Given the description of an element on the screen output the (x, y) to click on. 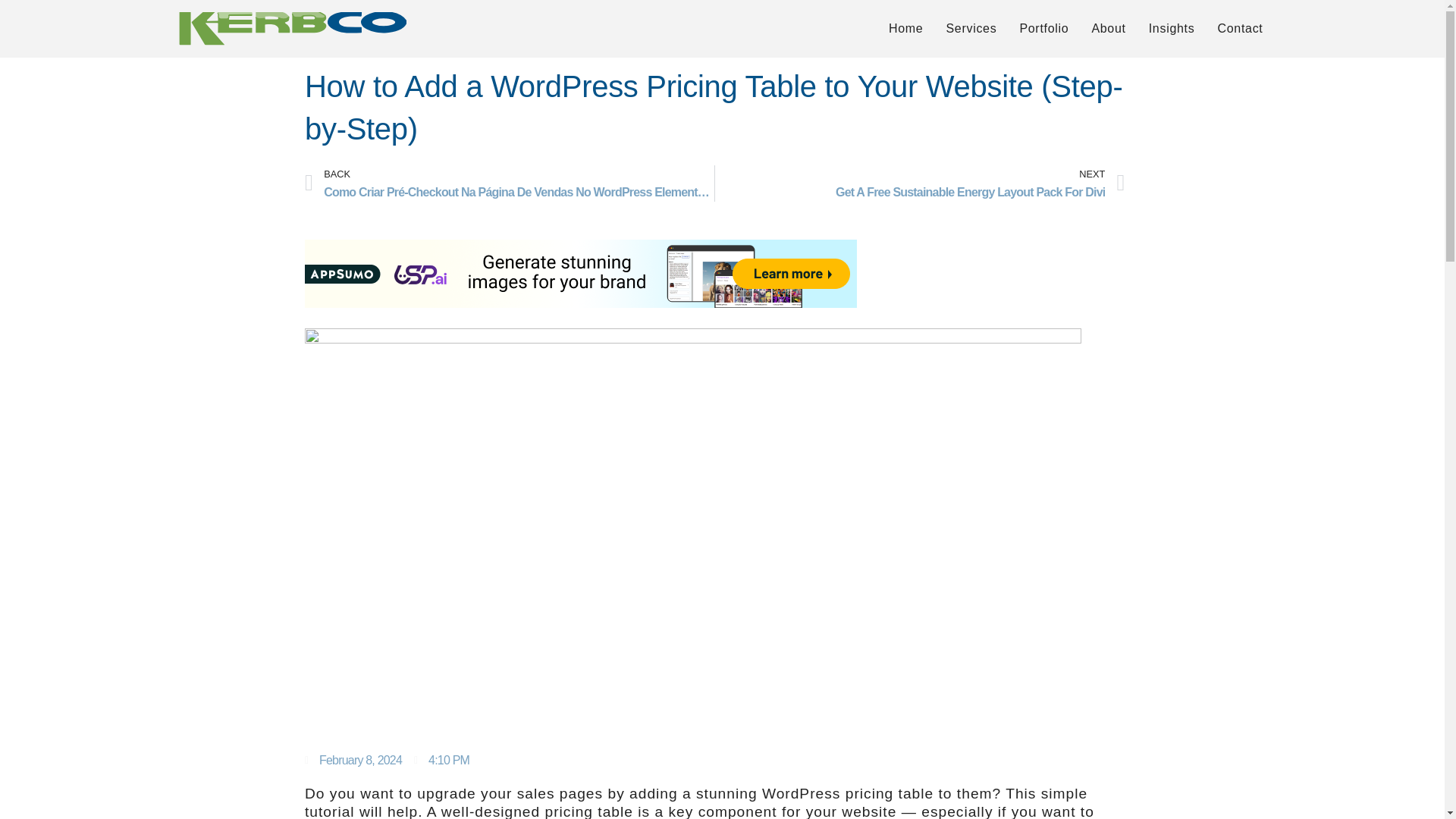
Home (919, 183)
Portfolio (905, 28)
Insights (1043, 28)
About (1172, 28)
Services (1108, 28)
Contact (970, 28)
